Given the description of an element on the screen output the (x, y) to click on. 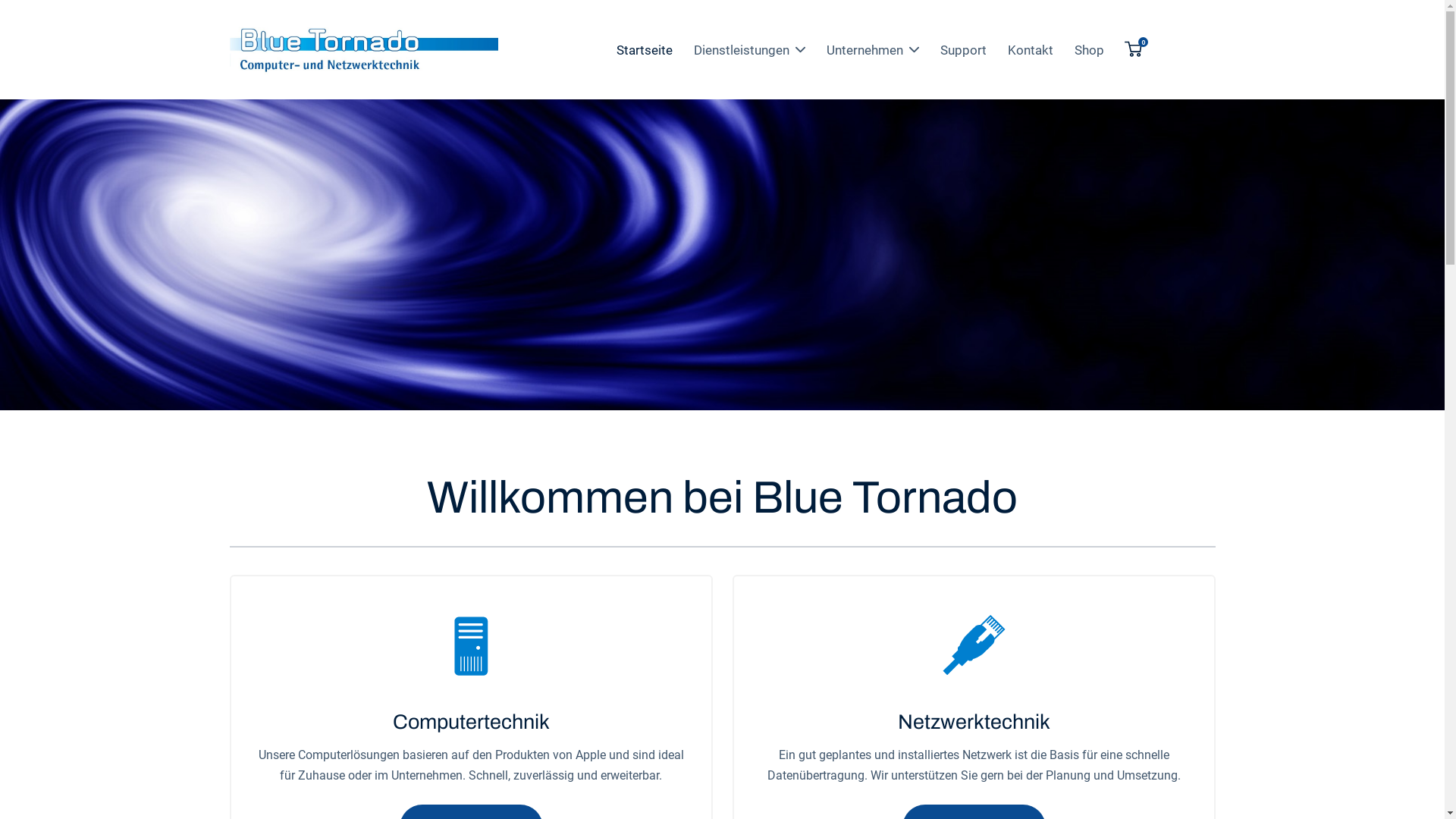
Warenkorb:
0 Element type: text (1133, 49)
Shop Element type: text (1089, 49)
Startseite Element type: text (644, 49)
Support Element type: text (963, 49)
Kontakt Element type: text (1030, 49)
